Given the description of an element on the screen output the (x, y) to click on. 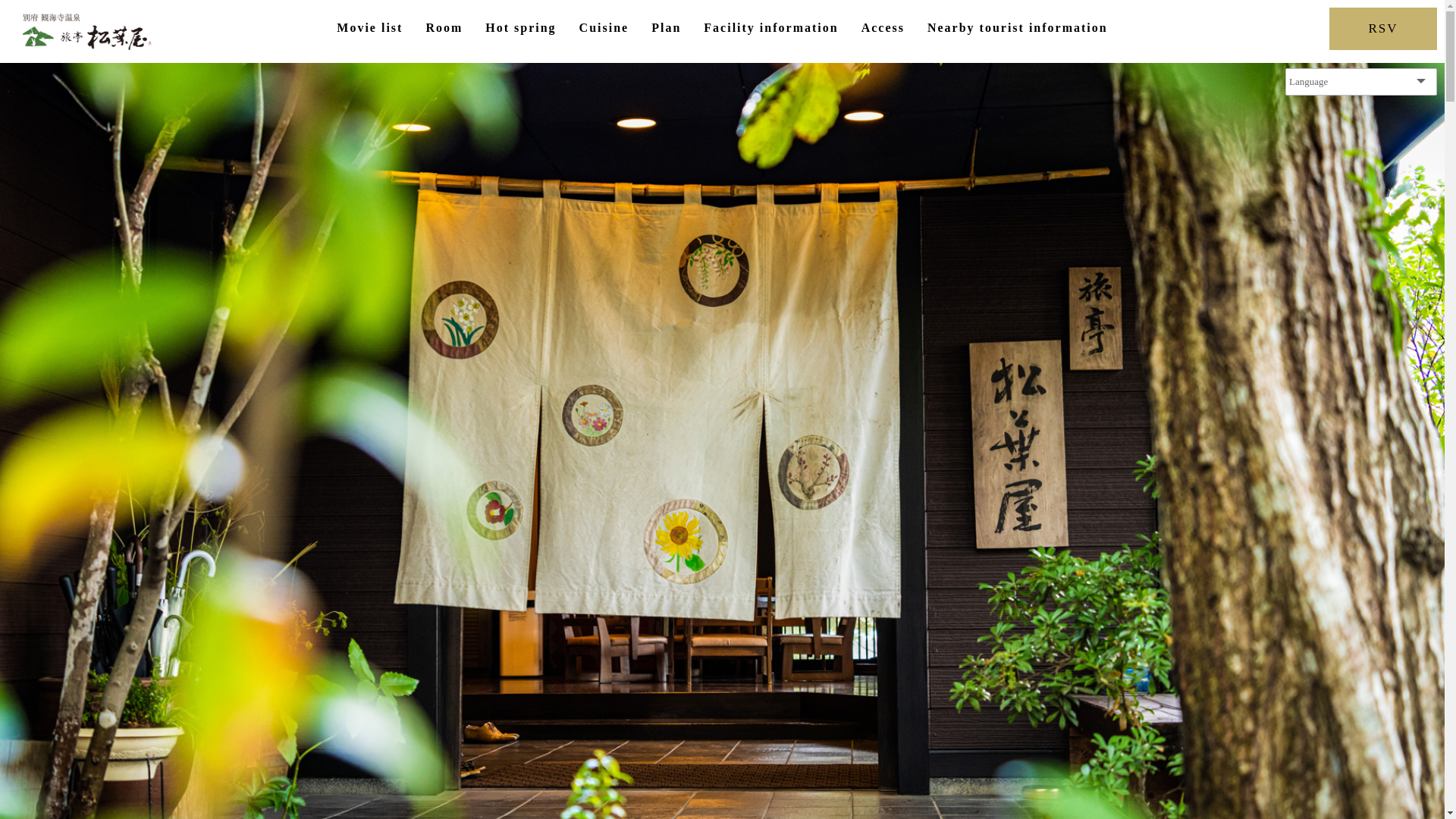
Facility information Element type: text (770, 27)
Nearby tourist information Element type: text (1017, 27)
RSV Element type: text (1383, 28)
Plan Element type: text (665, 27)
Access Element type: text (882, 27)
Cuisine Element type: text (604, 27)
Hot spring Element type: text (520, 27)
Movie list Element type: text (369, 27)
Room Element type: text (443, 27)
